Given the description of an element on the screen output the (x, y) to click on. 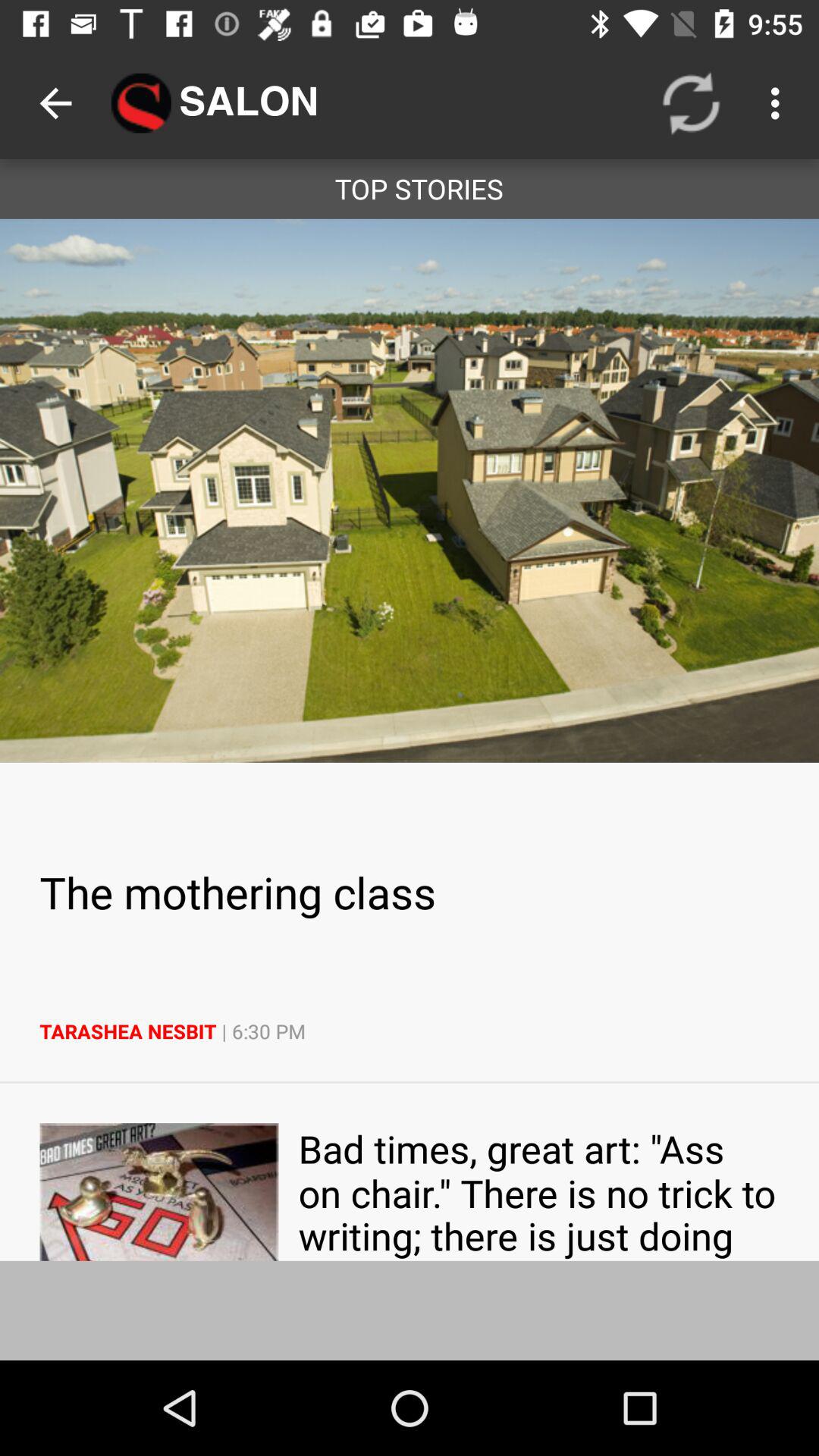
launch the the mothering class item (409, 891)
